Given the description of an element on the screen output the (x, y) to click on. 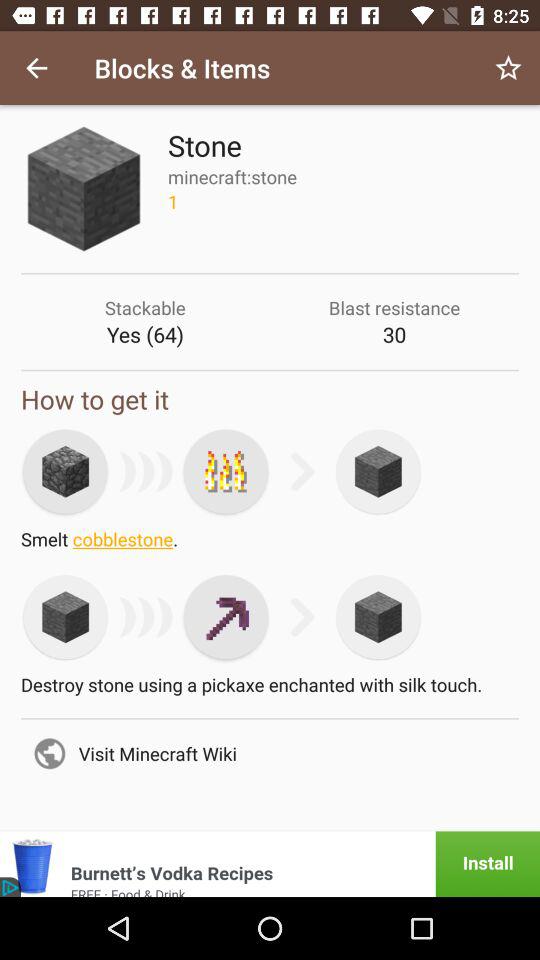
open item to the right of the blocks & items (508, 67)
